Given the description of an element on the screen output the (x, y) to click on. 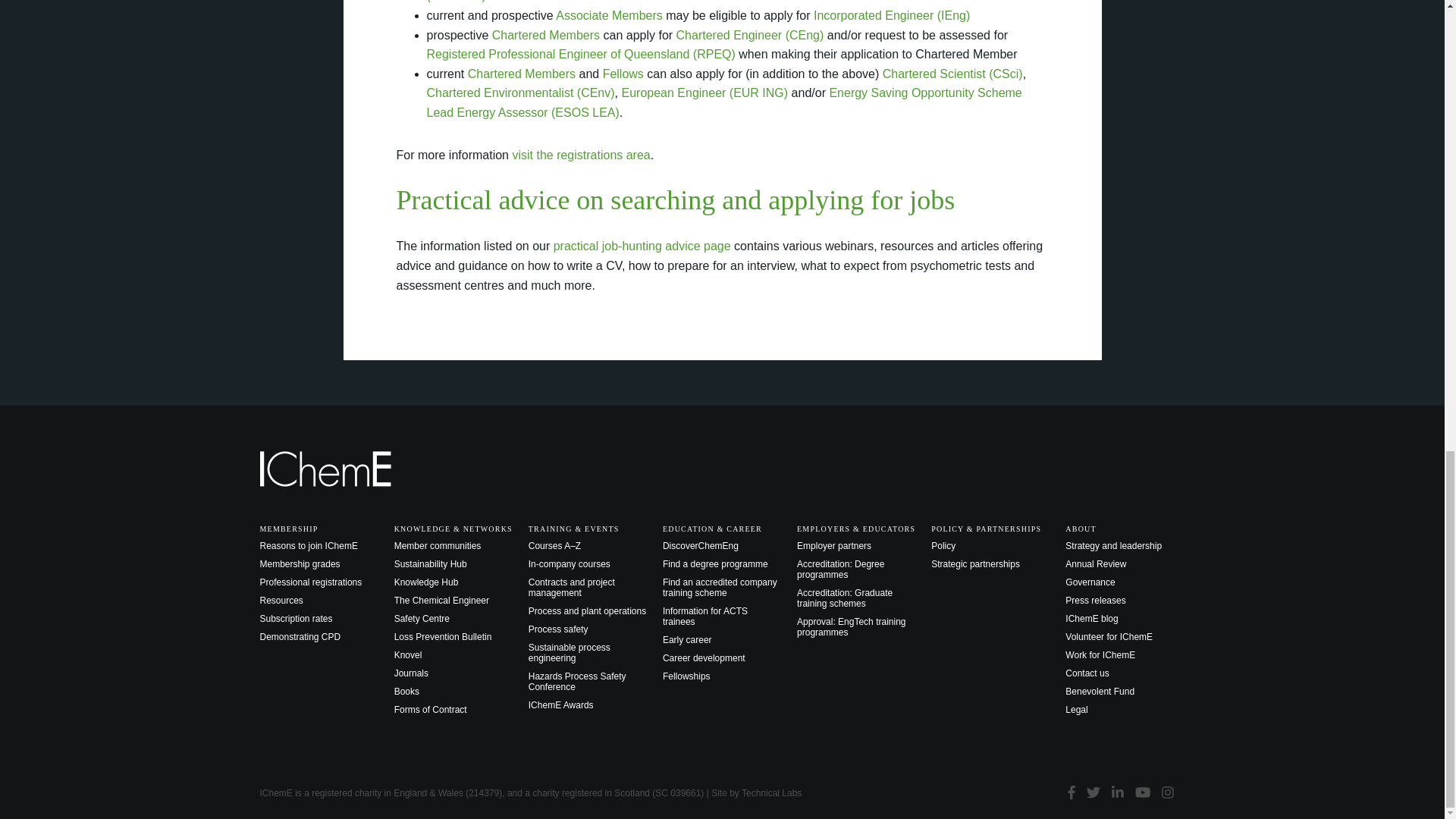
Associate Member (609, 15)
ESOS LEA (724, 102)
EUR ING (704, 92)
IEng (891, 15)
Fellow (622, 73)
RPEQ (580, 53)
Professional registrations (580, 154)
CEnv (520, 92)
Chartered Member (521, 73)
